Given the description of an element on the screen output the (x, y) to click on. 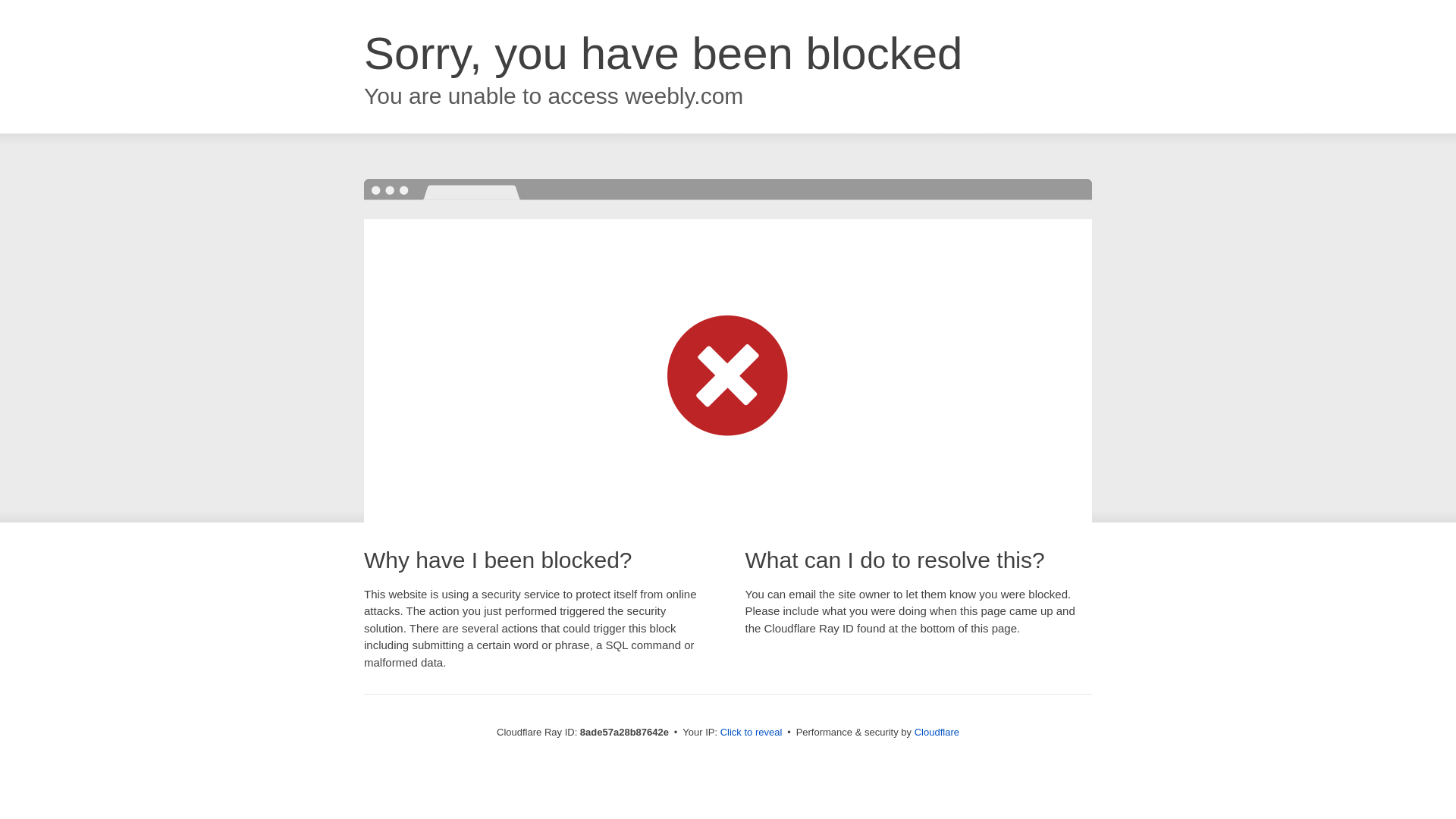
Cloudflare (936, 731)
Click to reveal (751, 732)
